Given the description of an element on the screen output the (x, y) to click on. 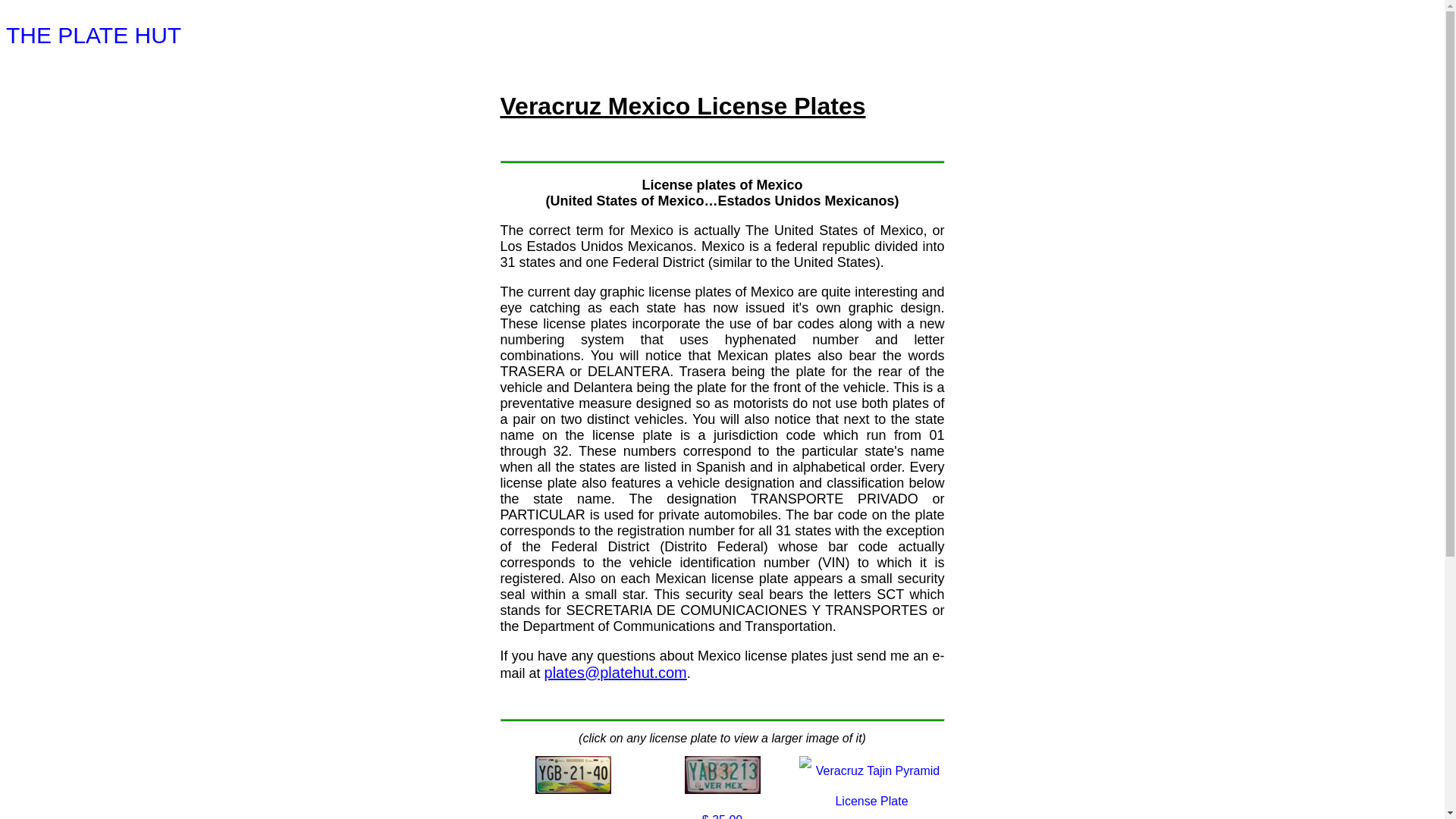
Veracruz Mexico License Plate (722, 774)
Veracruz Tajin Pyramid License Plate (871, 785)
Veracruz Rainbow License Plate (573, 774)
